Given the description of an element on the screen output the (x, y) to click on. 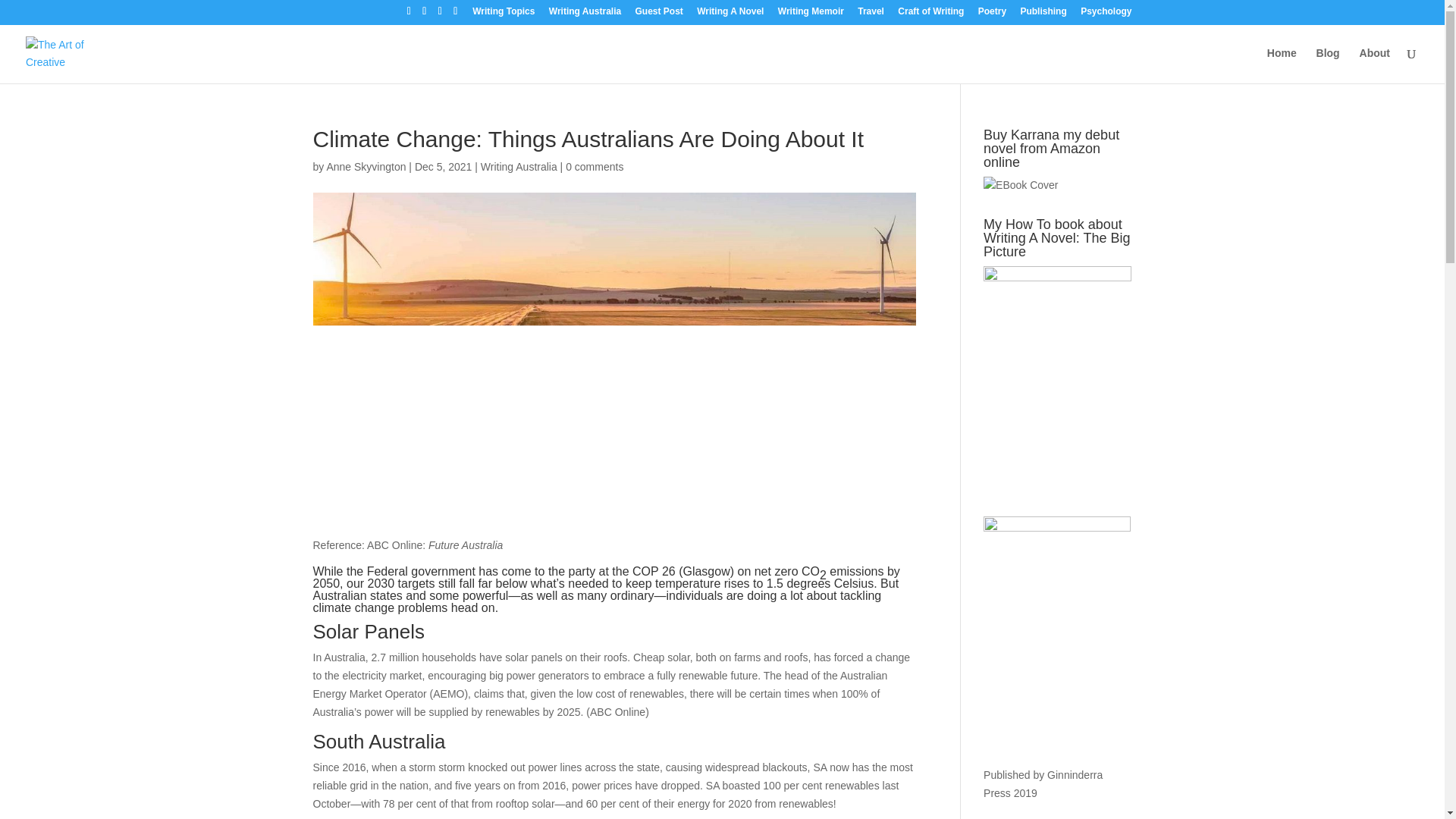
Posts by Anne Skyvington (366, 166)
Buy Karrana my debut novel from Amazon online (1021, 185)
Anne Skyvington (366, 166)
Writing A Novel (729, 14)
Writing Topics (502, 14)
Publishing (1042, 14)
Travel (870, 14)
Writing Australia (518, 166)
Writing Australia (584, 14)
0 comments (594, 166)
